Given the description of an element on the screen output the (x, y) to click on. 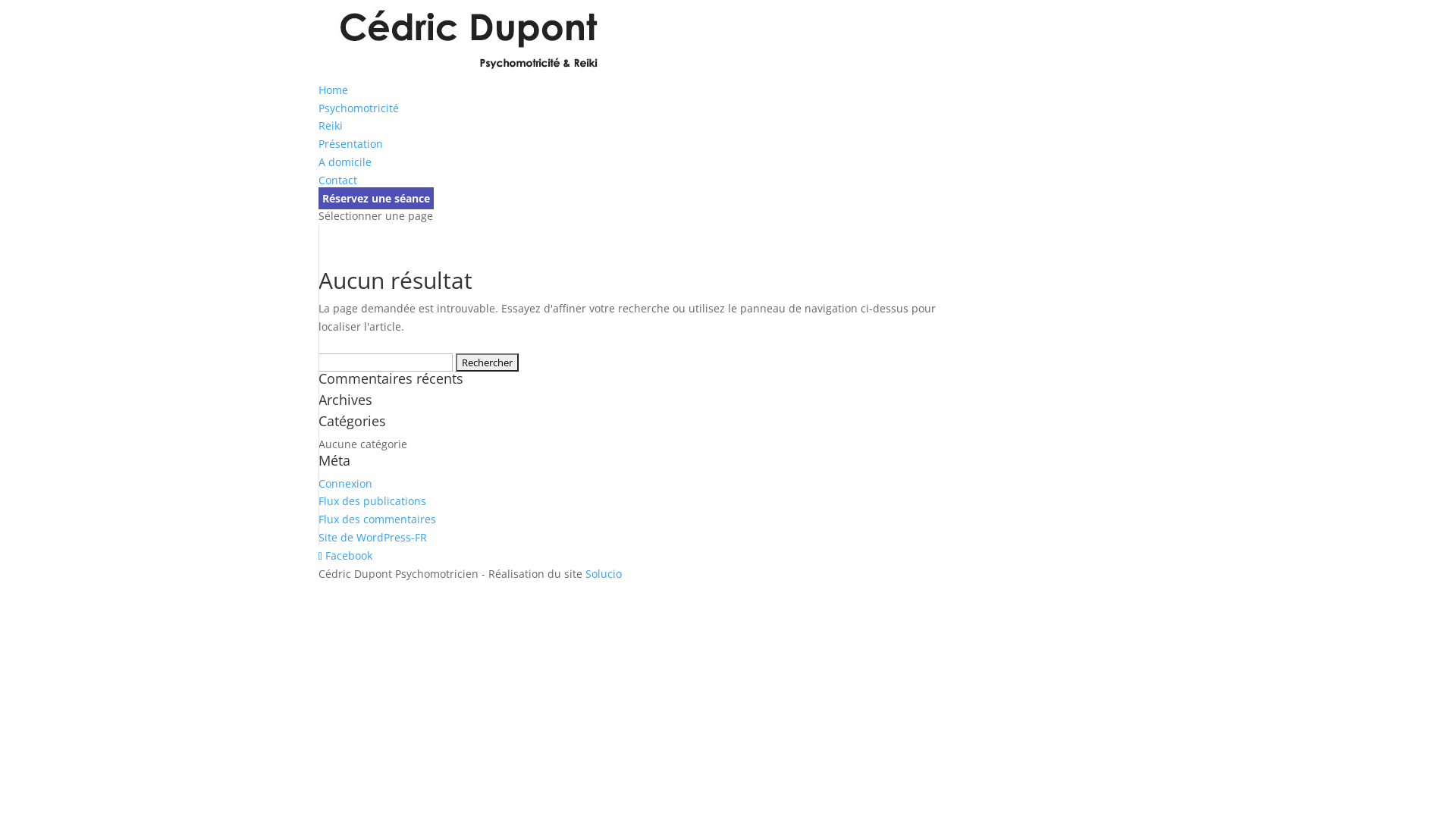
A domicile Element type: text (344, 161)
Contact Element type: text (337, 179)
Site de WordPress-FR Element type: text (372, 537)
Solucio Element type: text (603, 573)
Facebook Element type: text (345, 555)
Reiki Element type: text (330, 125)
Flux des publications Element type: text (372, 500)
Rechercher Element type: text (486, 362)
Flux des commentaires Element type: text (377, 518)
Connexion Element type: text (345, 483)
Home Element type: text (333, 89)
